Given the description of an element on the screen output the (x, y) to click on. 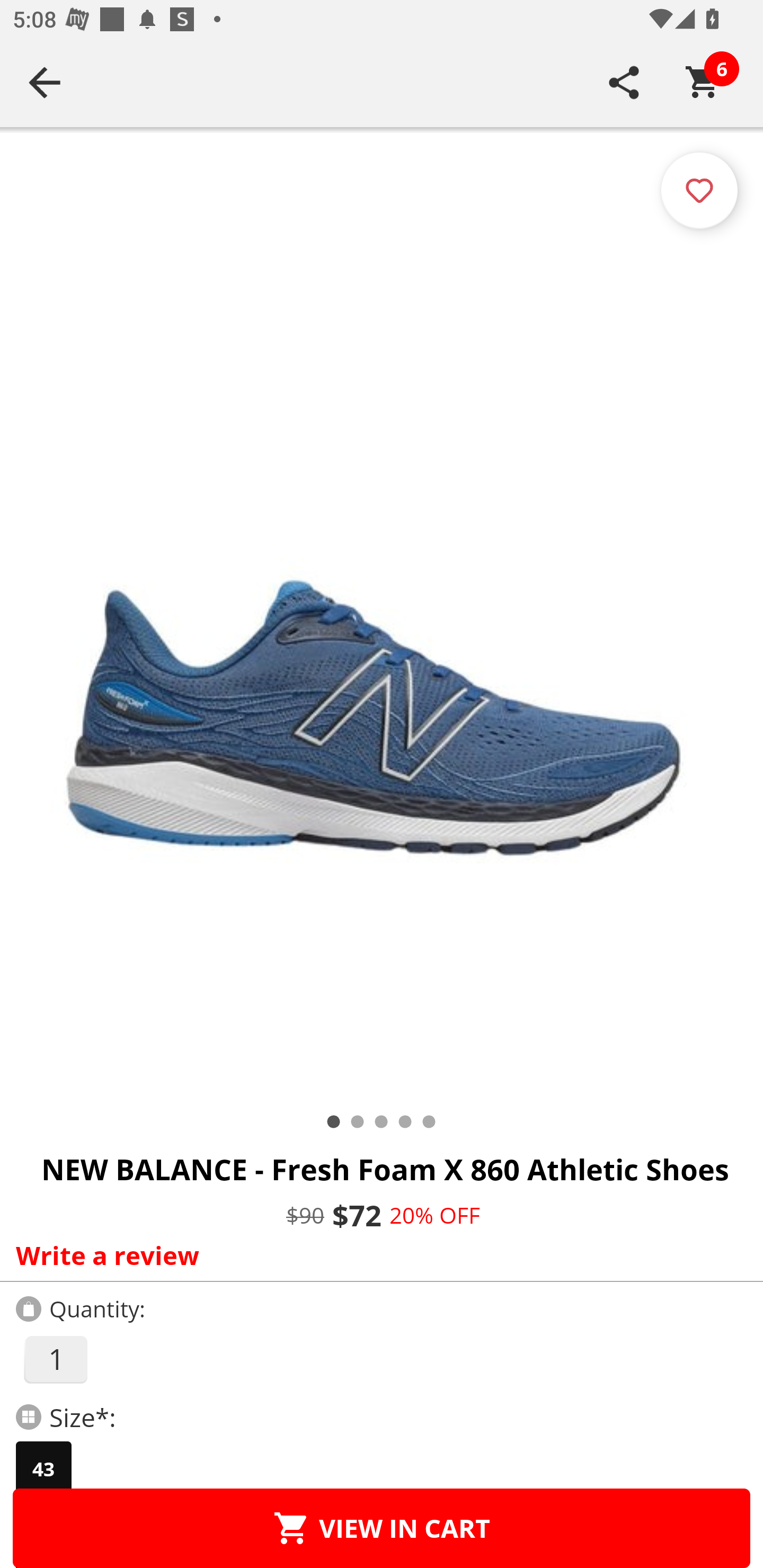
Navigate up (44, 82)
SHARE (623, 82)
Cart (703, 81)
Write a review (377, 1255)
1 (55, 1358)
43 (43, 1468)
VIEW IN CART (381, 1528)
